Given the description of an element on the screen output the (x, y) to click on. 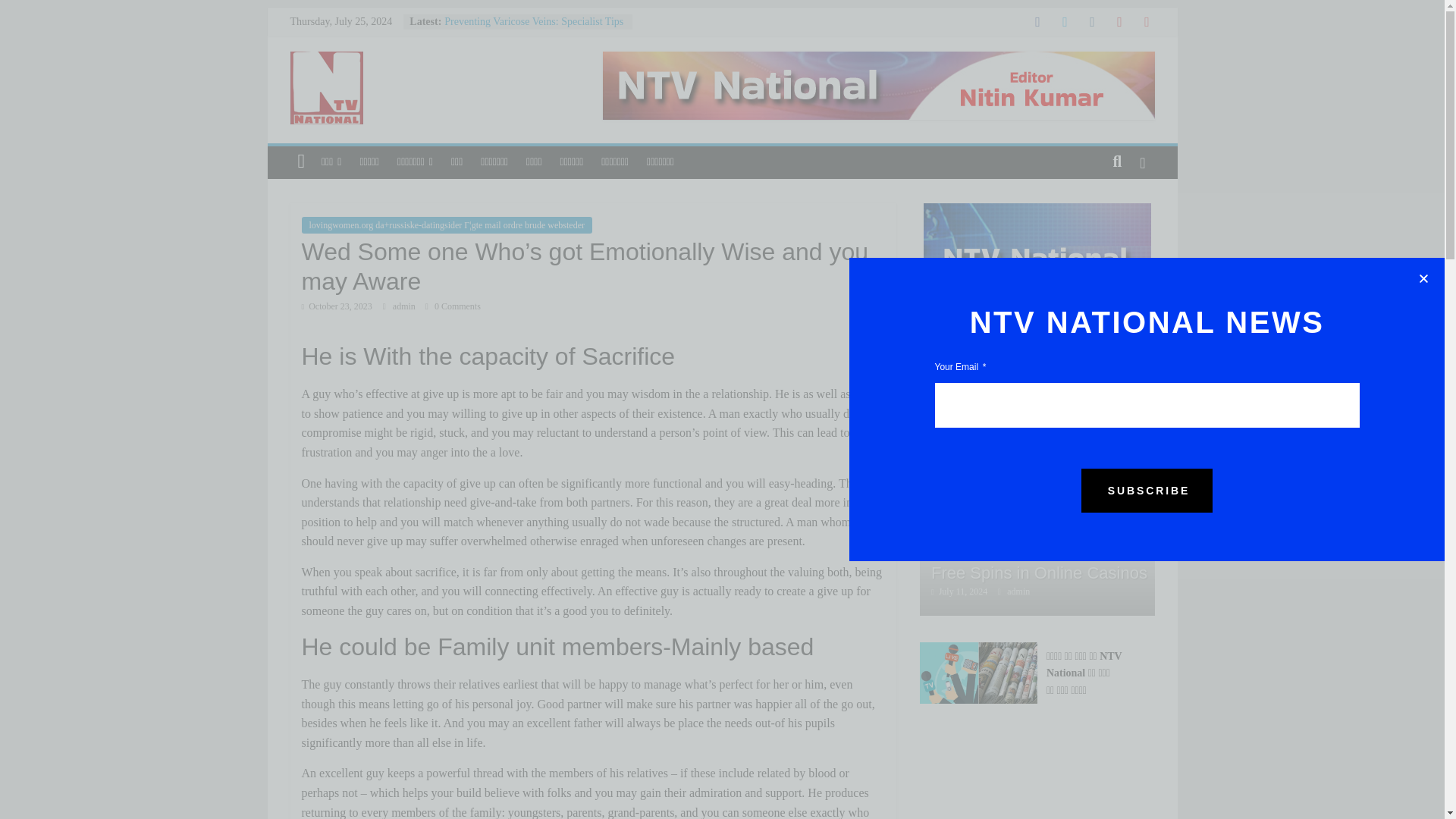
admin (405, 306)
Preventing Varicose Veins: Specialist Tips for Healthy Legs (533, 28)
October 23, 2023 (336, 306)
admin (405, 306)
Preventing Varicose Veins: Specialist Tips for Healthy Legs (533, 28)
0 Comments (452, 306)
12:47 pm (336, 306)
